Given the description of an element on the screen output the (x, y) to click on. 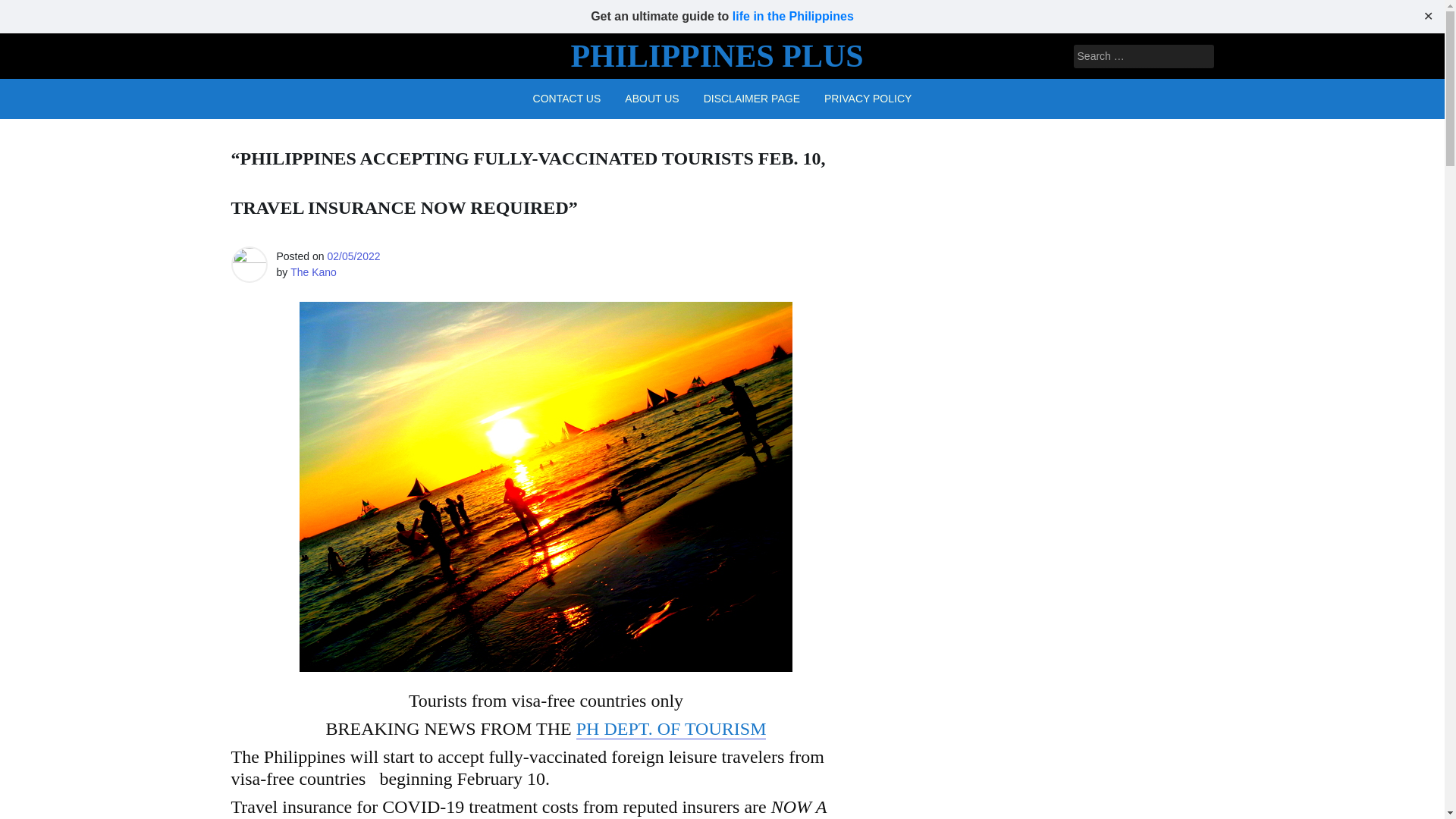
life in the Philippines (792, 15)
The Kano (312, 272)
DISCLAIMER PAGE (751, 98)
CONTACT US (566, 98)
PH DEPT. OF TOURISM (671, 729)
PHILIPPINES PLUS (716, 55)
ABOUT US (651, 98)
PRIVACY POLICY (867, 98)
Search (32, 12)
